Given the description of an element on the screen output the (x, y) to click on. 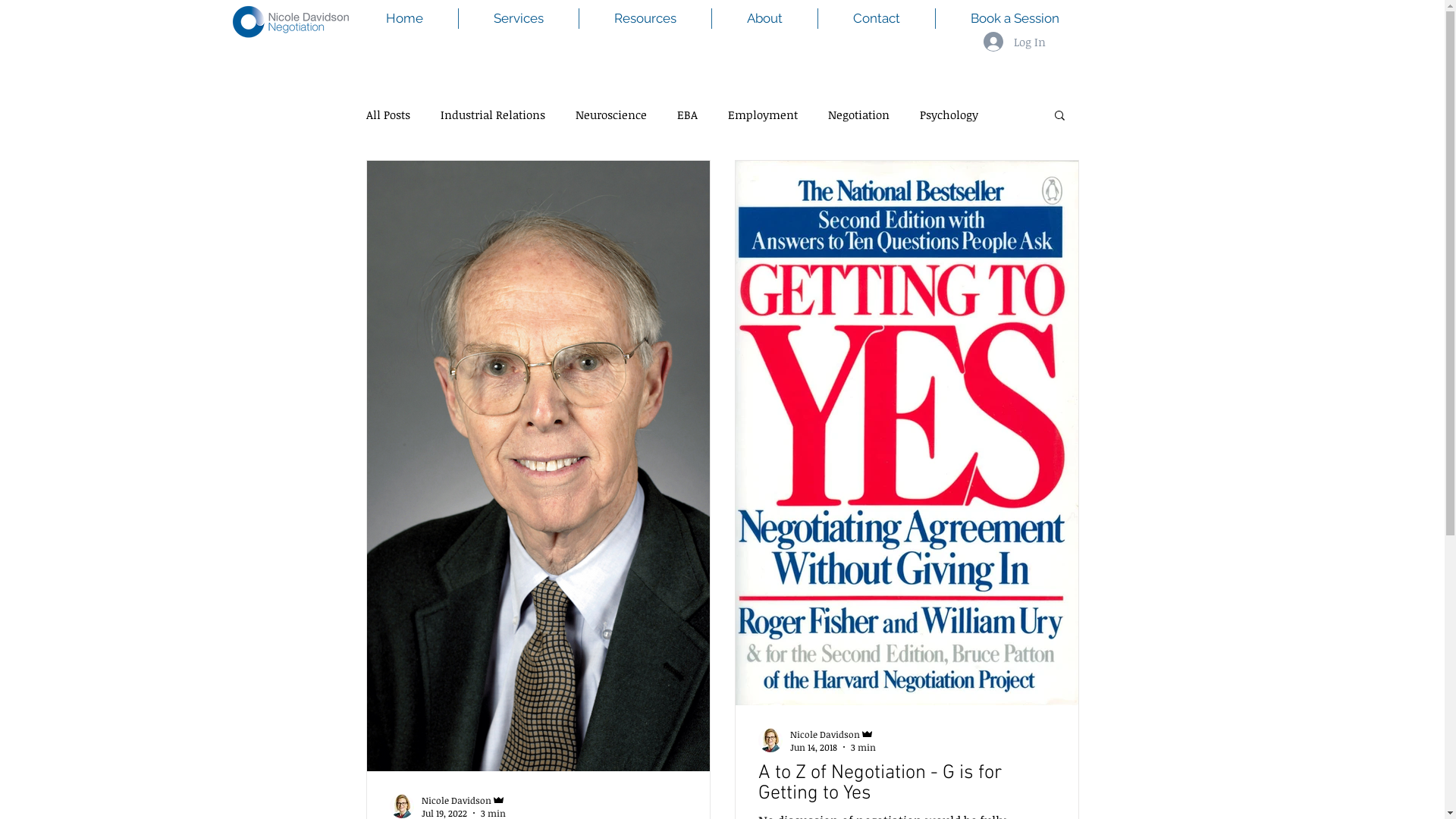
Contact Element type: text (875, 18)
Home Element type: text (403, 18)
All Posts Element type: text (387, 114)
Resources Element type: text (645, 18)
Negotiation Element type: text (858, 114)
Nicole Davidson Element type: text (832, 733)
Industrial Relations Element type: text (491, 114)
Neuroscience Element type: text (610, 114)
Services Element type: text (517, 18)
Book a Session Element type: text (1014, 18)
About Element type: text (763, 18)
Psychology Element type: text (948, 114)
Nicole Davidson Element type: text (463, 799)
A to Z of Negotiation - G is for Getting to Yes Element type: text (906, 782)
EBA Element type: text (686, 114)
Employment Element type: text (762, 114)
Log In Element type: text (1013, 41)
